Given the description of an element on the screen output the (x, y) to click on. 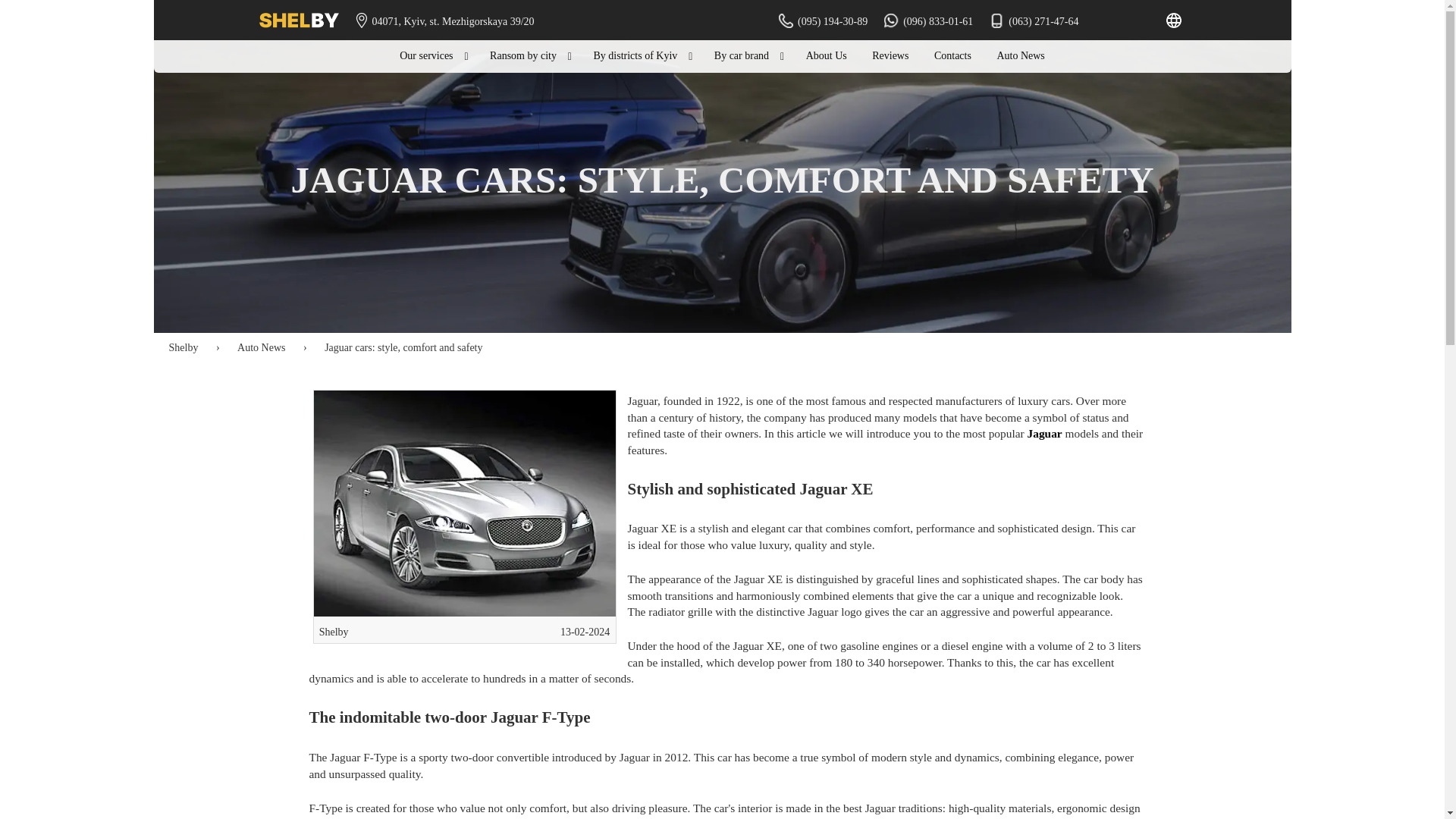
Our services (432, 56)
Ransom by city (529, 56)
By districts of Kyiv (640, 56)
